Given the description of an element on the screen output the (x, y) to click on. 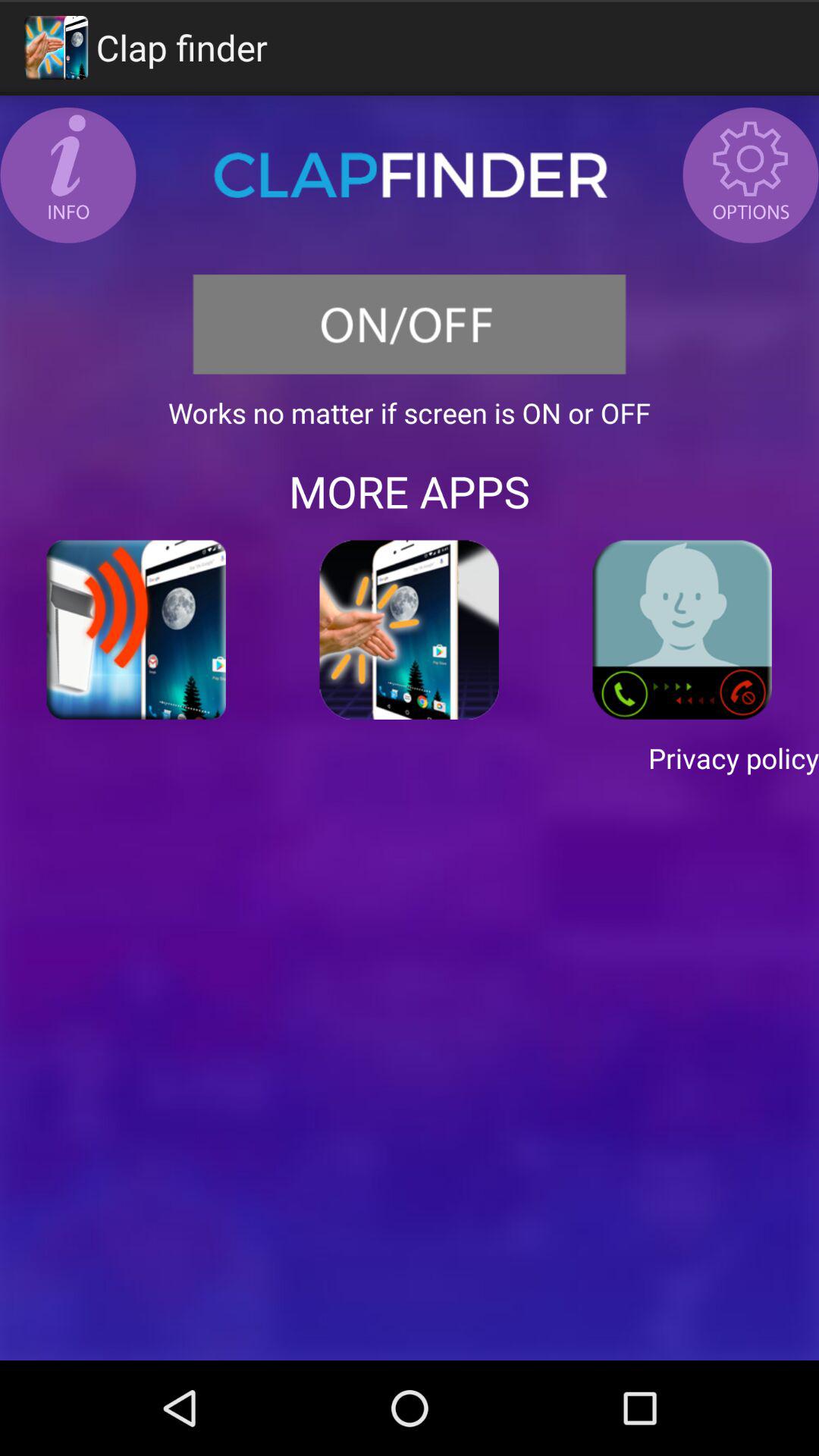
get more information (68, 174)
